Given the description of an element on the screen output the (x, y) to click on. 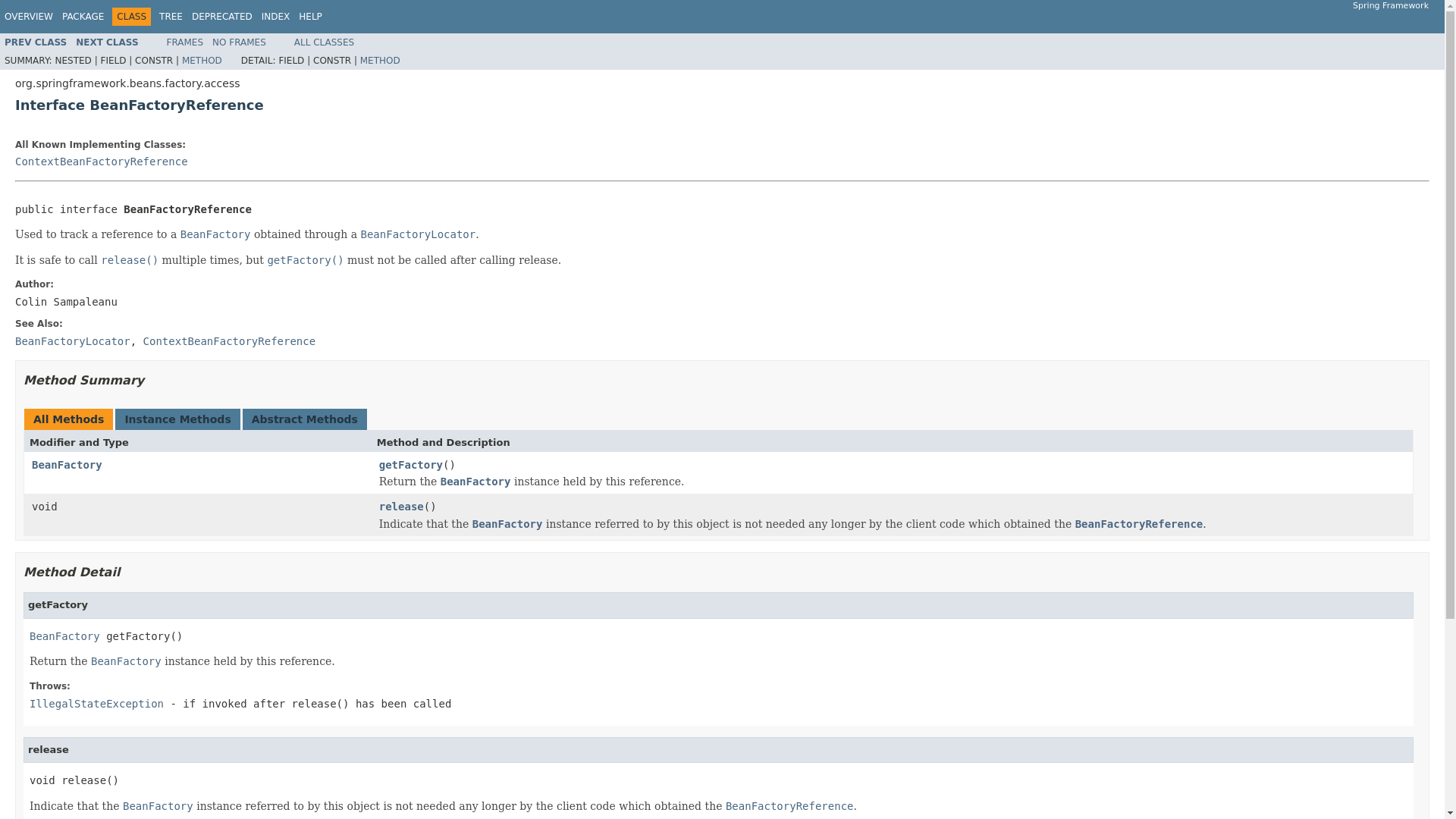
PREV CLASS (35, 41)
Abstract Methods (304, 419)
INDEX (275, 16)
Instance Methods (176, 419)
NEXT CLASS (106, 41)
BeanFactory (476, 482)
BeanFactory (125, 661)
interface in org.springframework.beans.factory.access (1139, 523)
interface in org.springframework.beans.factory (157, 806)
BeanFactoryLocator (72, 340)
